Given the description of an element on the screen output the (x, y) to click on. 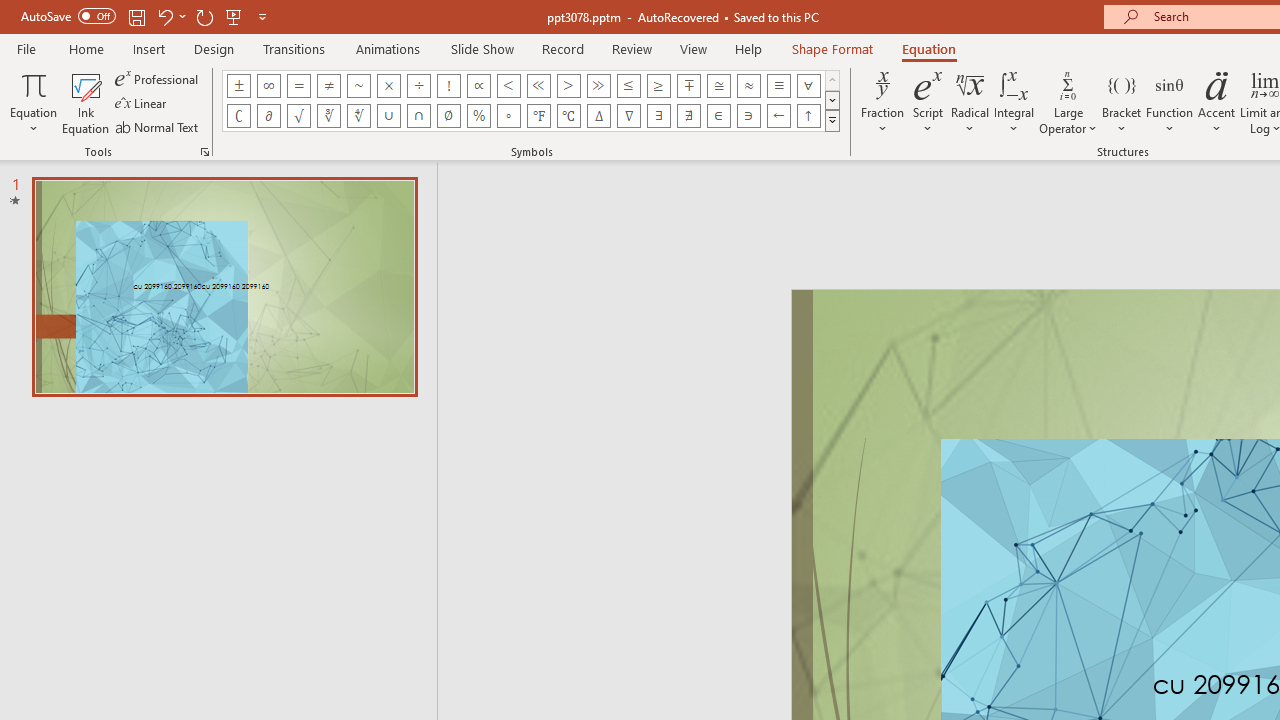
Equation Symbol Factorial (448, 85)
Integral (1014, 102)
Equation Symbol Increment (598, 115)
Equation Symbol Approximately (358, 85)
Linear (142, 103)
Equation Symbol Identical To (778, 85)
Function (1169, 102)
Equation Symbol Contains as Member (748, 115)
